Given the description of an element on the screen output the (x, y) to click on. 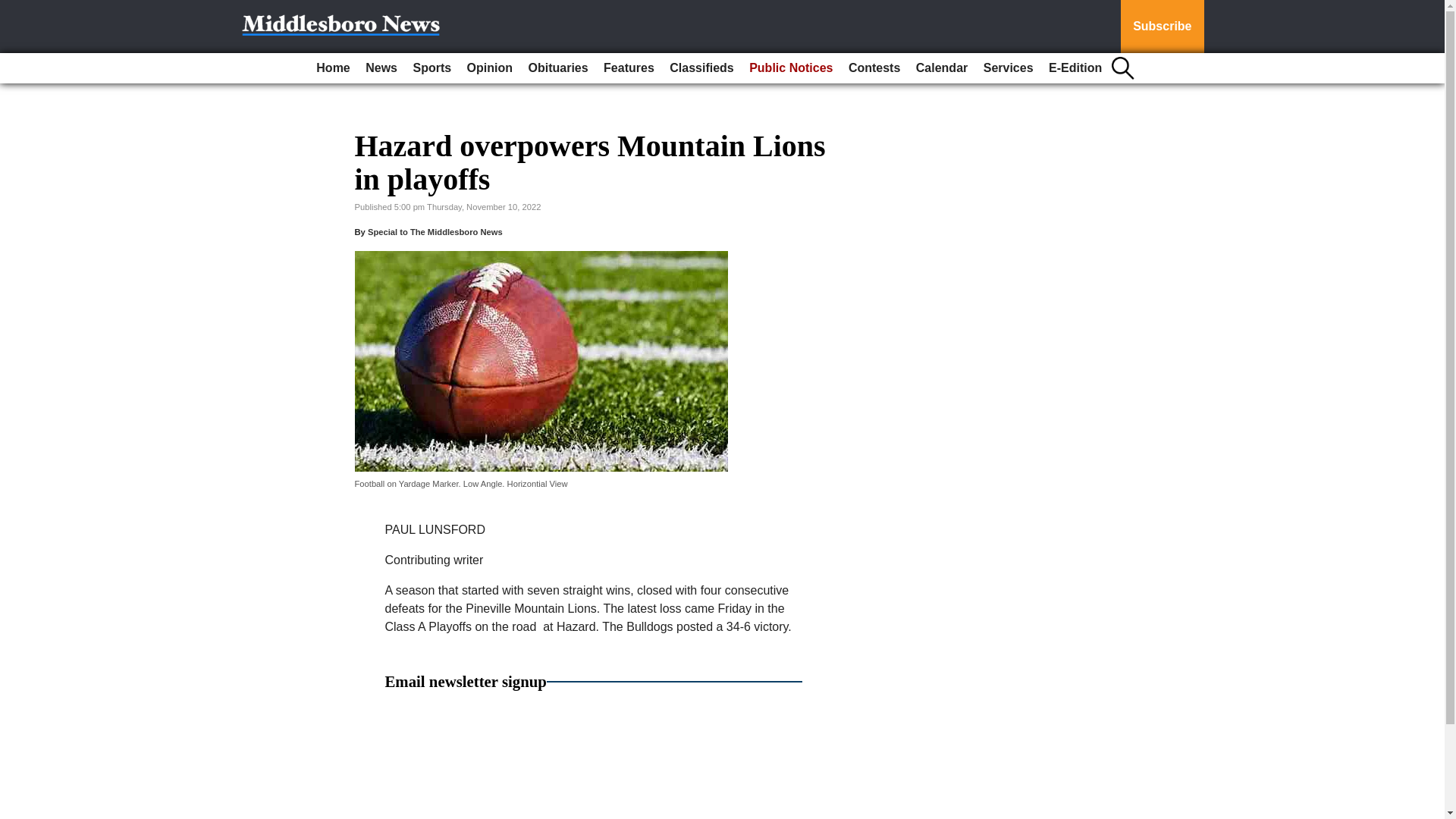
Obituaries (557, 68)
E-Edition (1075, 68)
News (381, 68)
Contests (874, 68)
Special to The Middlesboro News (435, 231)
Go (13, 9)
Calendar (942, 68)
Services (1007, 68)
Features (628, 68)
Public Notices (790, 68)
